Given the description of an element on the screen output the (x, y) to click on. 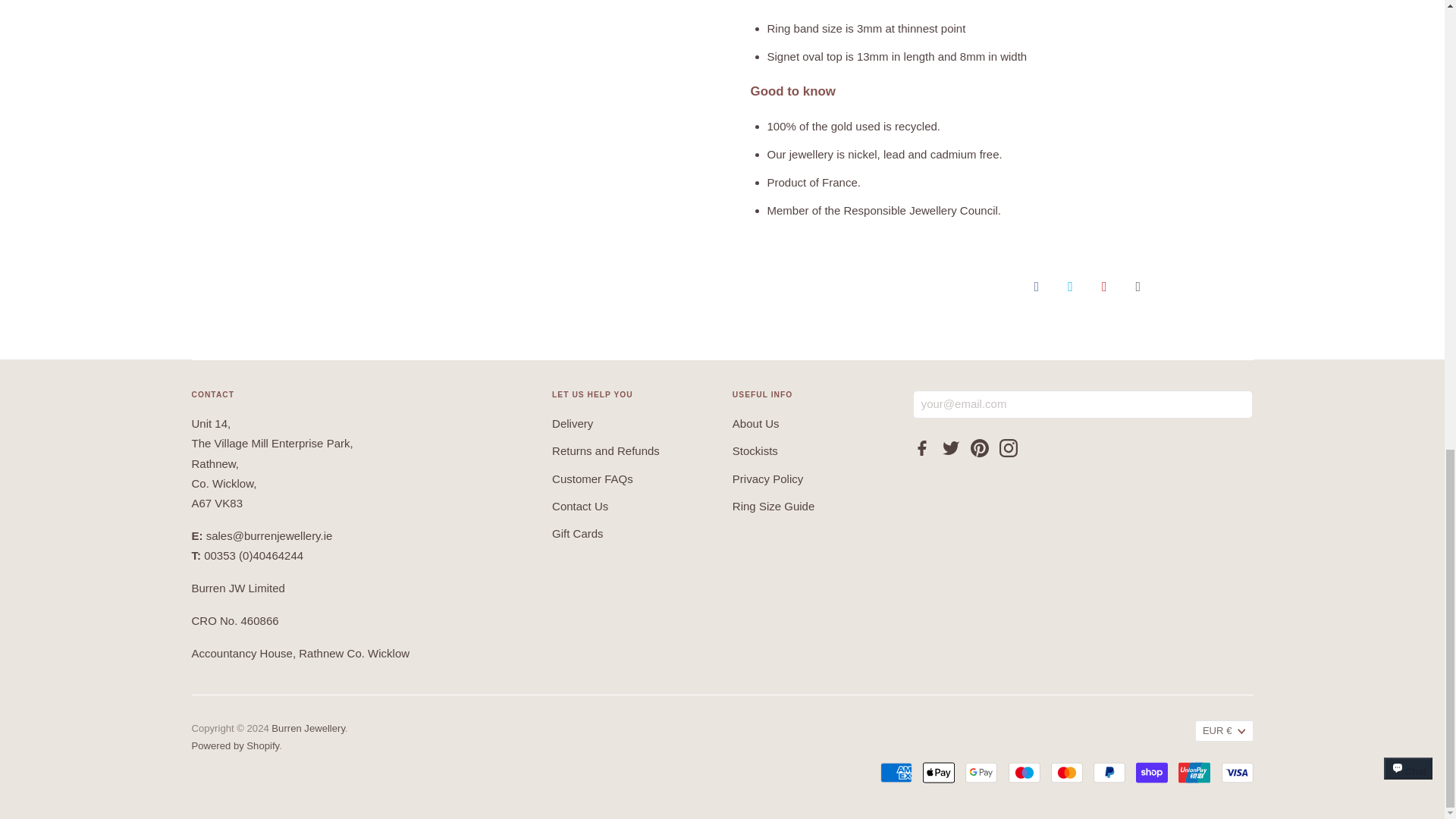
American Express (896, 772)
Shop Pay (1151, 772)
PayPal (1109, 772)
Google Pay (981, 772)
Union Pay (1193, 772)
Maestro (1025, 772)
Visa (1236, 772)
Mastercard (1067, 772)
Apple Pay (939, 772)
